Given the description of an element on the screen output the (x, y) to click on. 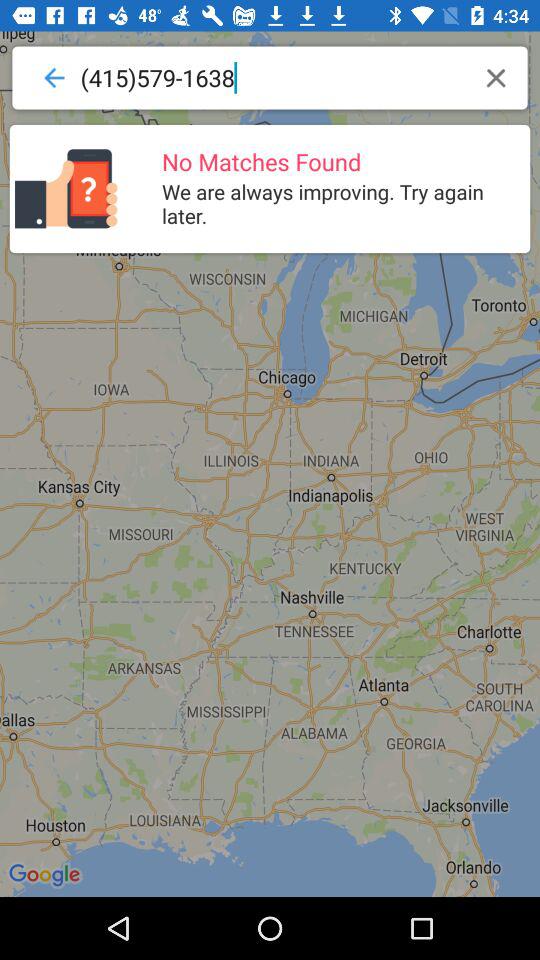
turn on the item to the right of the (415)579-1638 item (495, 77)
